Given the description of an element on the screen output the (x, y) to click on. 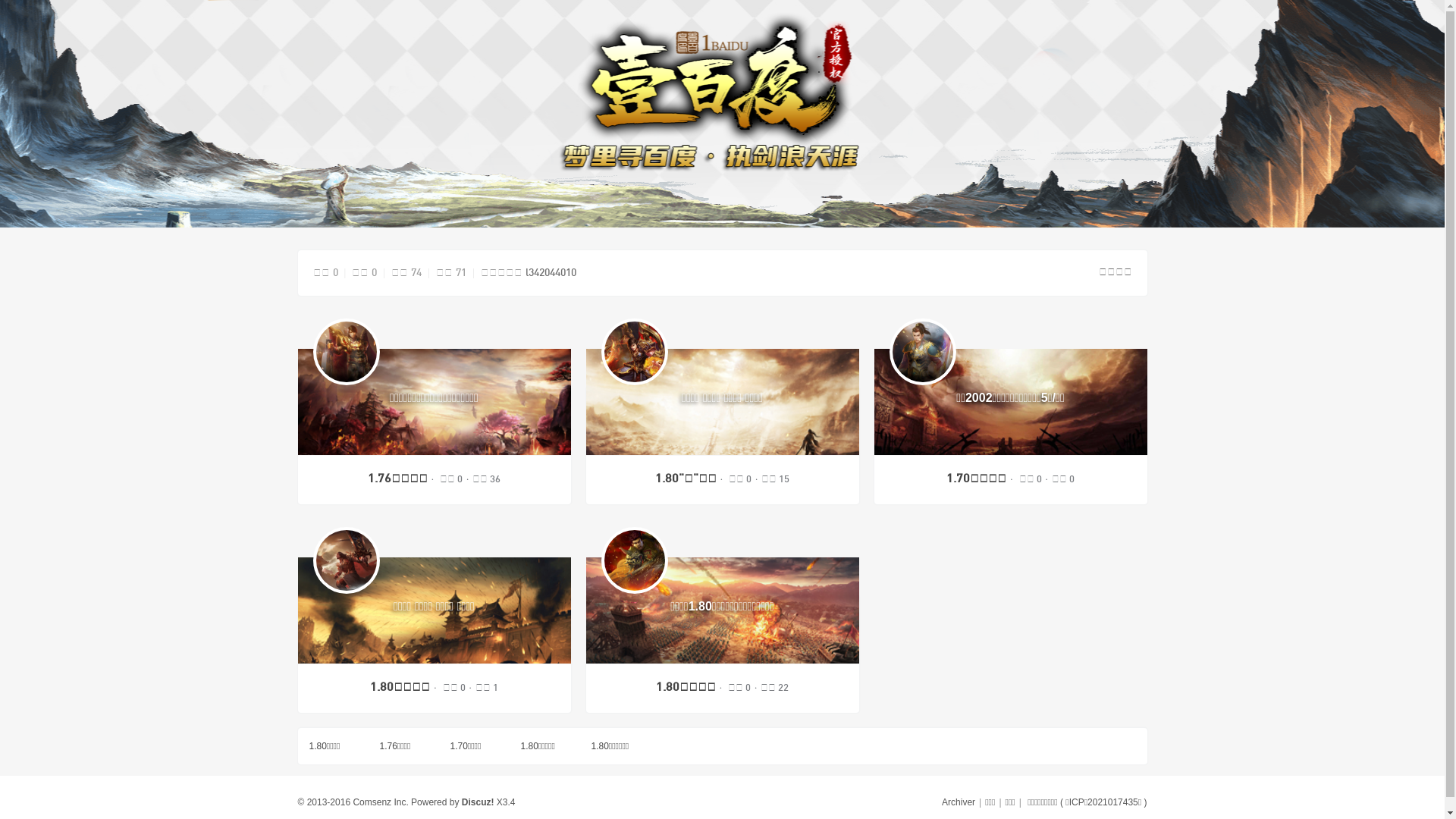
l342044010 Element type: text (550, 273)
Discuz! Element type: text (477, 802)
Archiver Element type: text (958, 802)
true Element type: text (721, 507)
Comsenz Inc. Element type: text (379, 802)
